Given the description of an element on the screen output the (x, y) to click on. 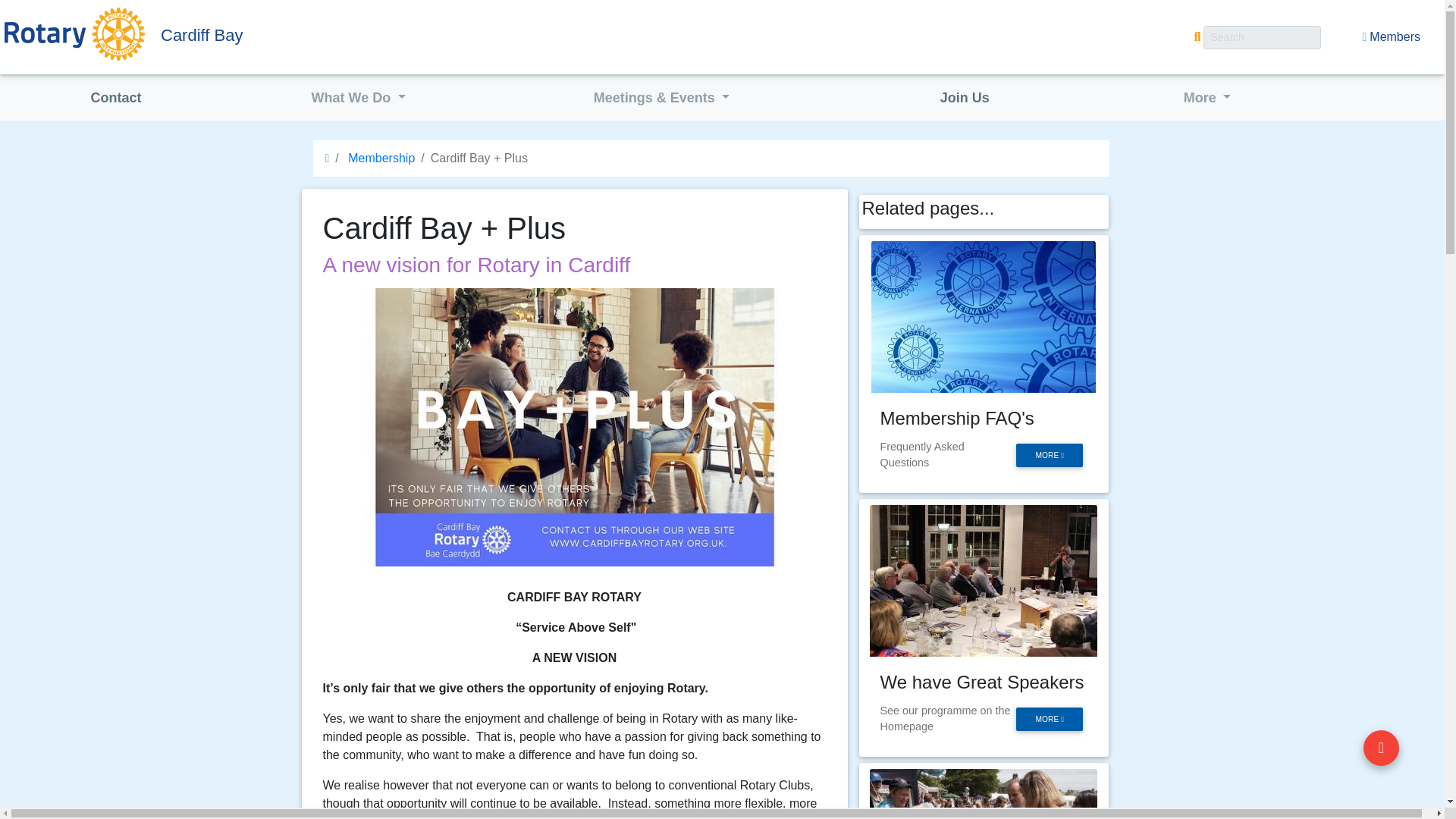
Members (1390, 37)
Contact (115, 97)
Cardiff Bay (299, 35)
What We Do (358, 97)
